Given the description of an element on the screen output the (x, y) to click on. 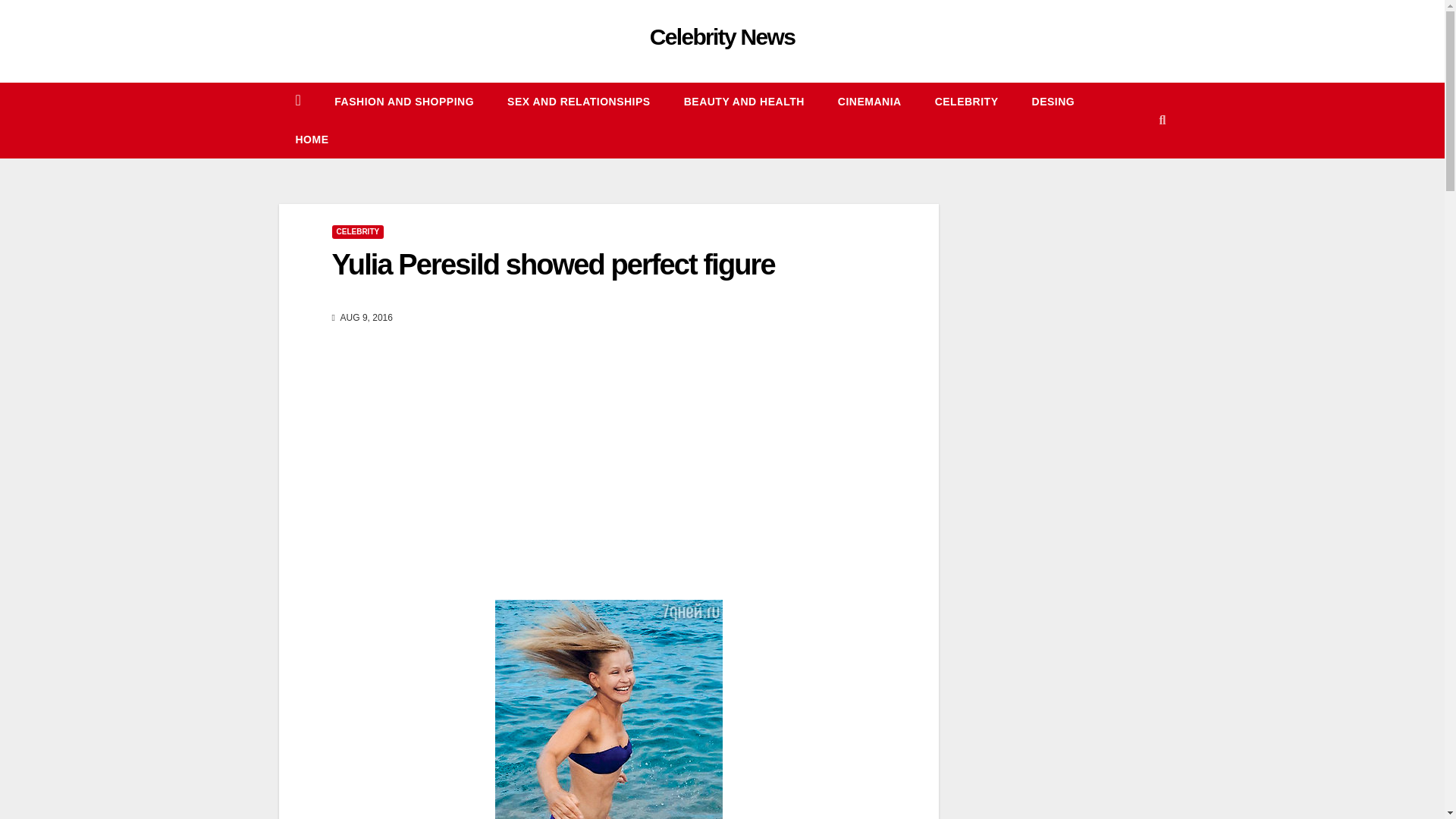
Home (312, 139)
BEAUTY AND HEALTH (743, 101)
CELEBRITY (966, 101)
CELEBRITY (357, 232)
SEX AND RELATIONSHIPS (578, 101)
CINEMANIA (869, 101)
DESING (1053, 101)
FASHION AND SHOPPING (403, 101)
Yulia Peresild showed perfect figure (552, 264)
CINEMANIA (869, 101)
